Given the description of an element on the screen output the (x, y) to click on. 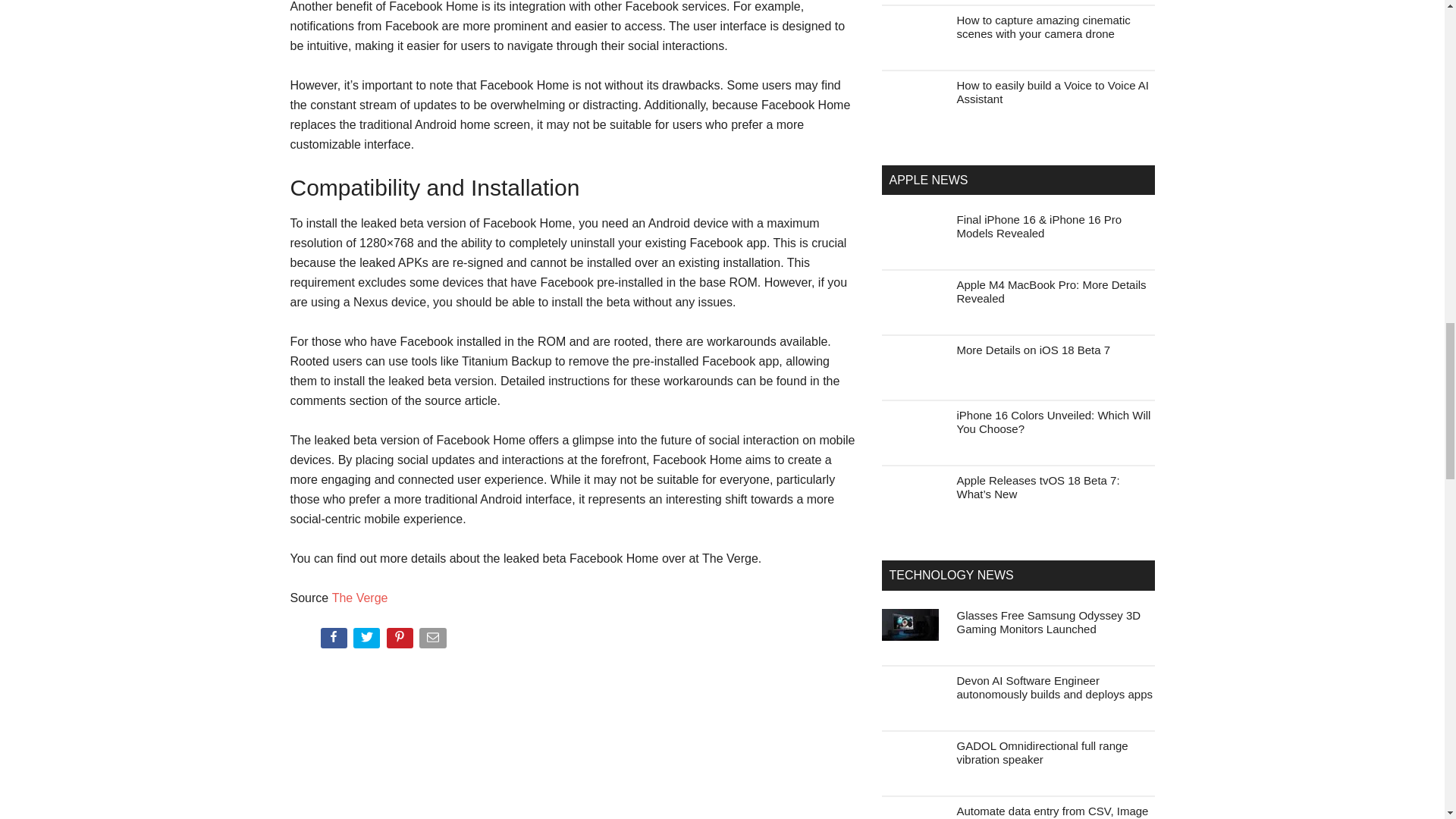
Pin (401, 641)
Share on Facebook (334, 641)
Email (433, 641)
Tweet (367, 641)
The Verge (359, 597)
